Given the description of an element on the screen output the (x, y) to click on. 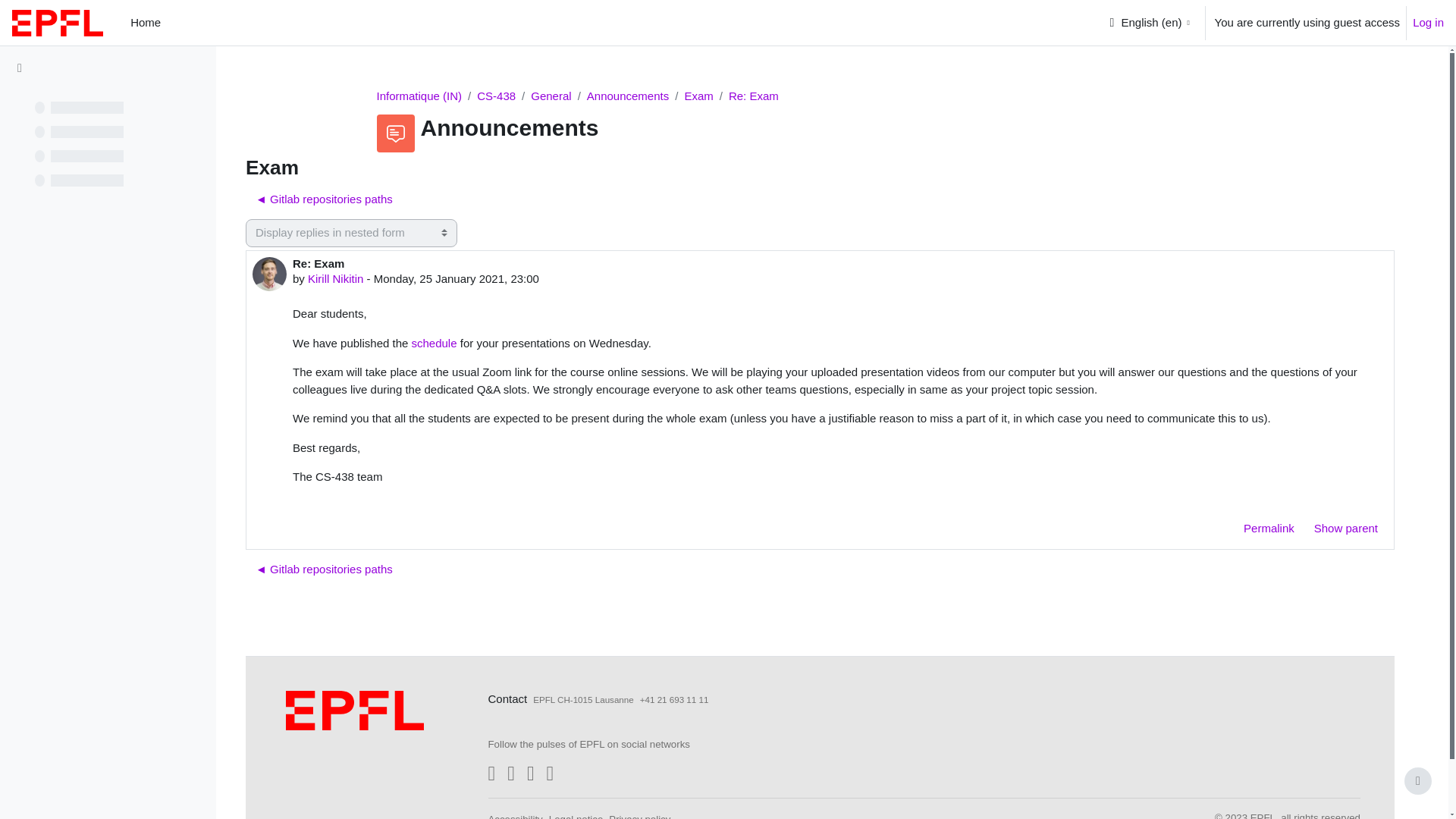
schedule (433, 342)
Forum (627, 95)
Home (145, 22)
Decentralized systems engineering (496, 95)
Kirill Nikitin (334, 277)
Log in (1428, 22)
Permanent link to this post (1268, 528)
Announcements (627, 95)
CS-438 (496, 95)
Picture of Kirill Nikitin (268, 273)
